Given the description of an element on the screen output the (x, y) to click on. 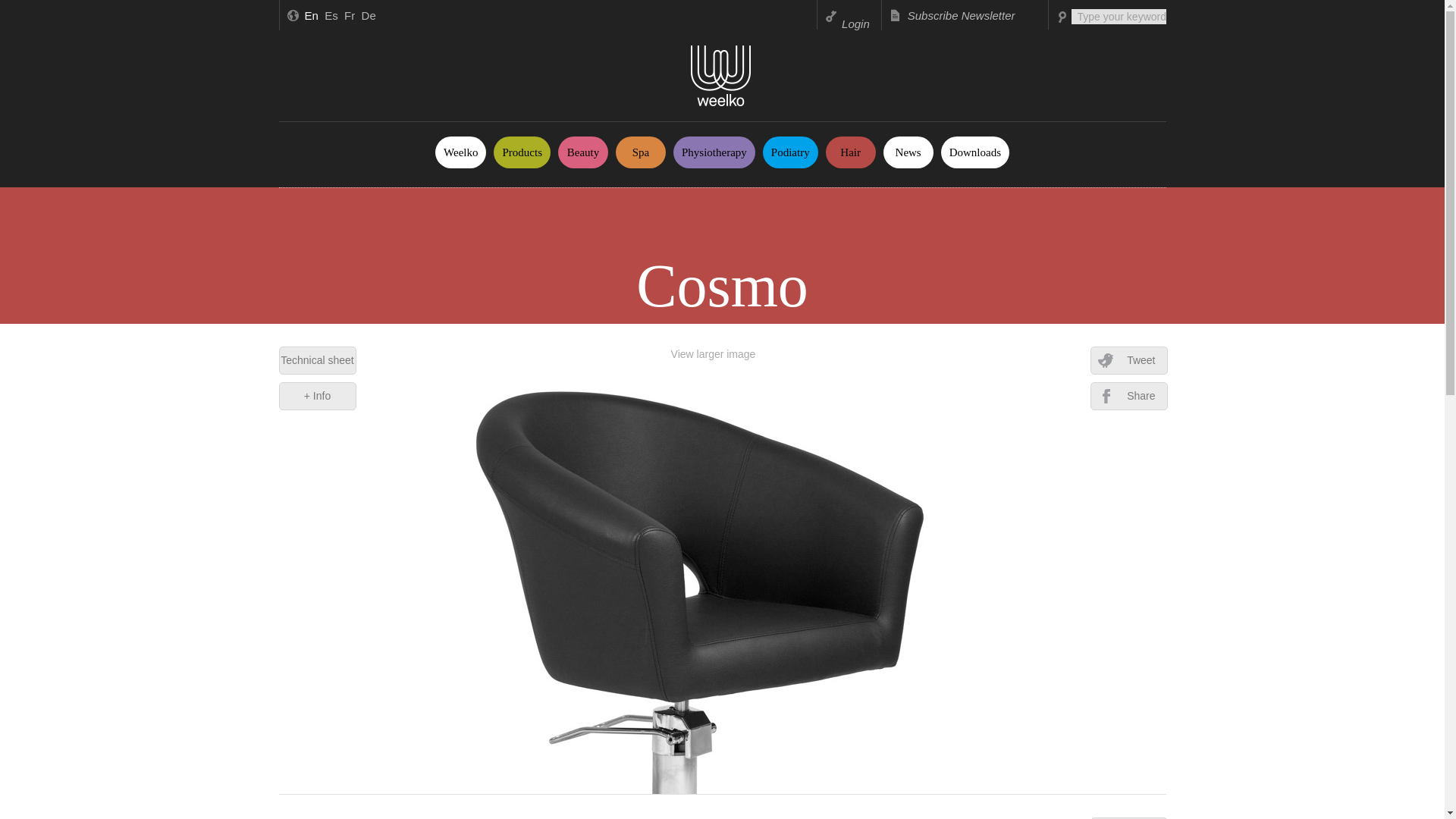
En (311, 15)
Es (330, 15)
Weelko (460, 152)
Products (521, 152)
De (368, 15)
